Given the description of an element on the screen output the (x, y) to click on. 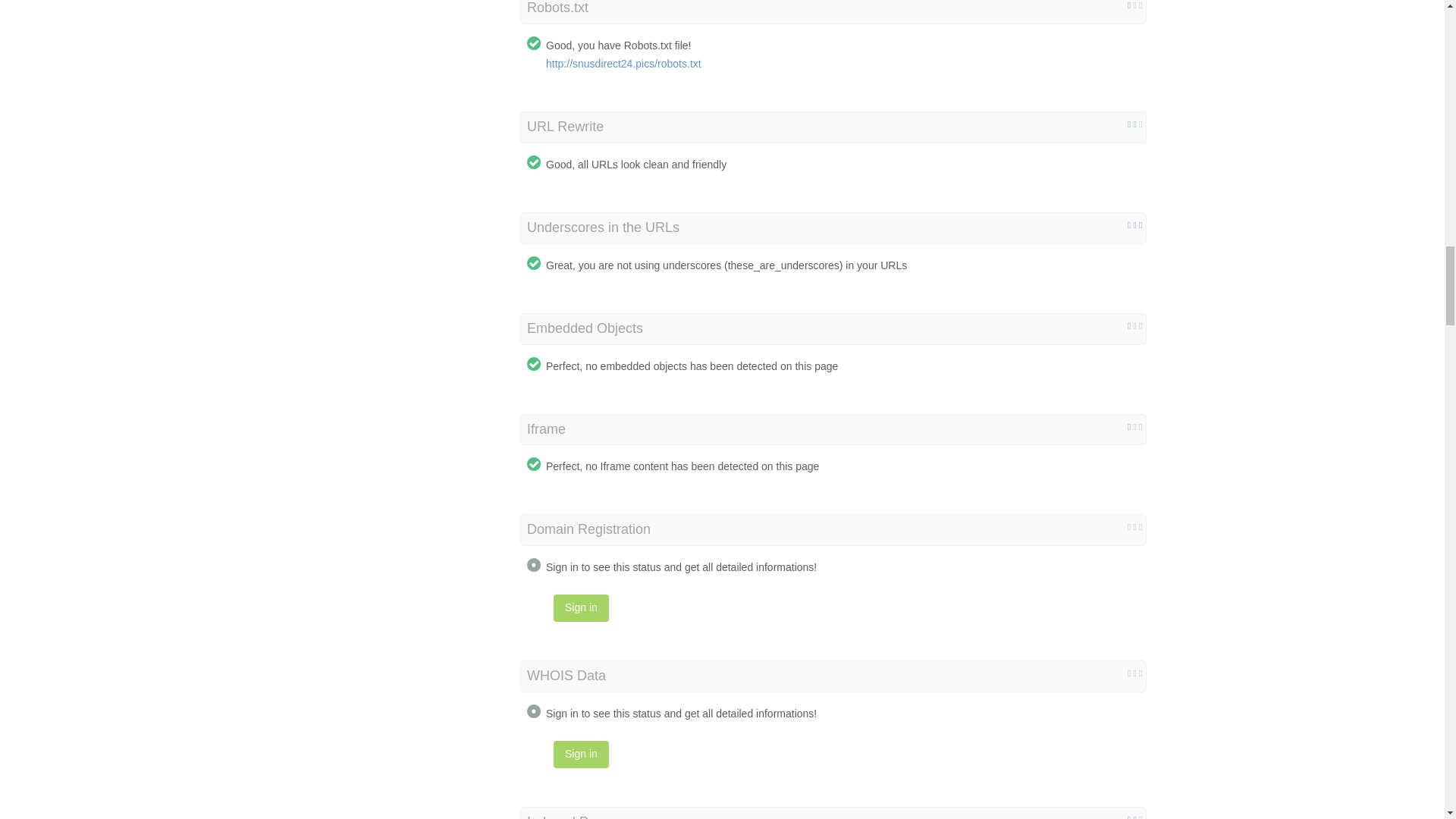
Sign in (580, 607)
Robots.txt Link (623, 63)
Sign in (580, 754)
